Given the description of an element on the screen output the (x, y) to click on. 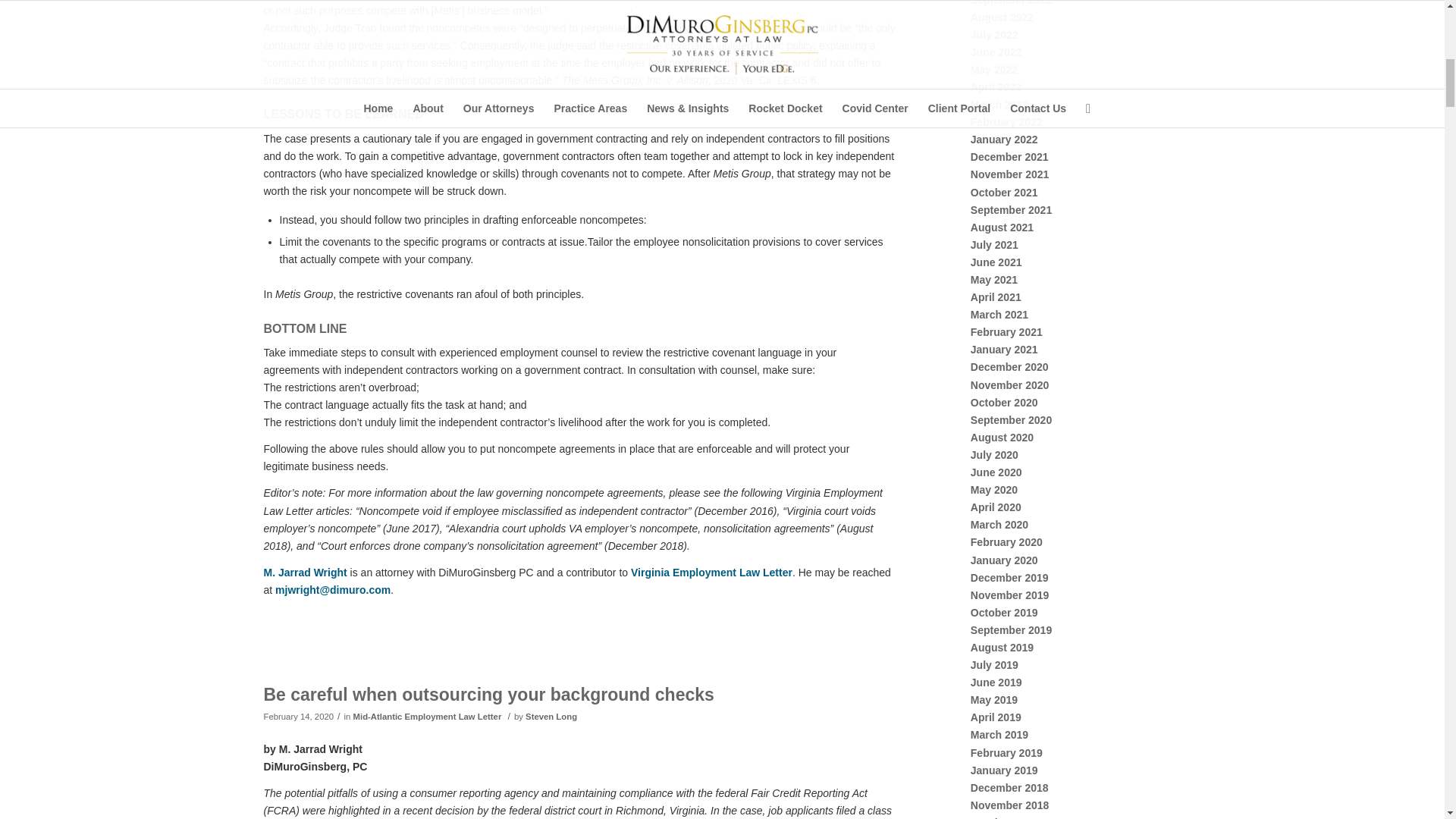
Virginia Employment Law Letter (711, 572)
Posts by Steven Long (550, 716)
M. Jarrad Wright (305, 572)
